Given the description of an element on the screen output the (x, y) to click on. 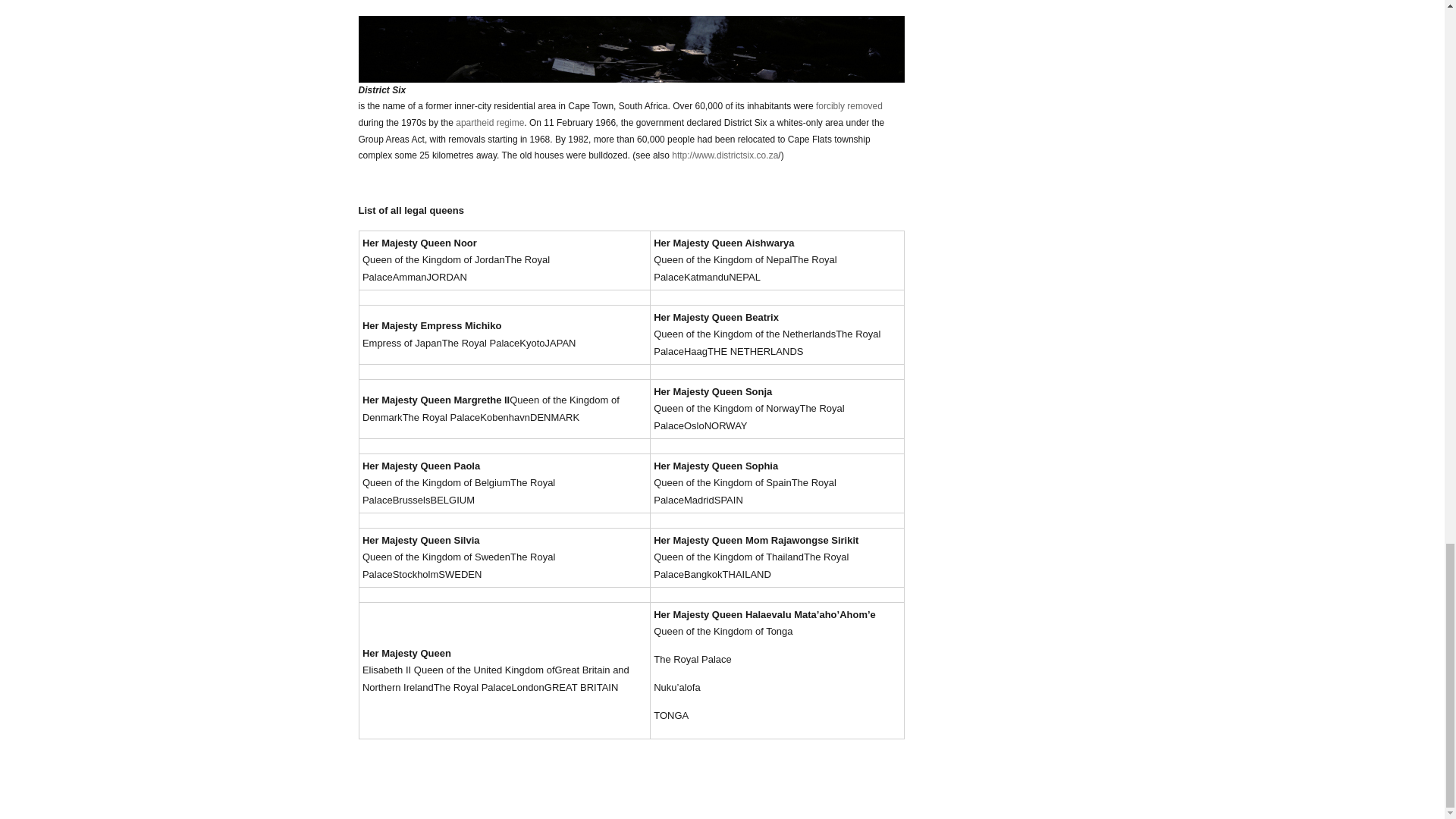
History of South Africa in the Apartheid era (848, 105)
South Africa under apartheid (489, 122)
Group Areas Act (631, 82)
queen3 (631, 41)
